Given the description of an element on the screen output the (x, y) to click on. 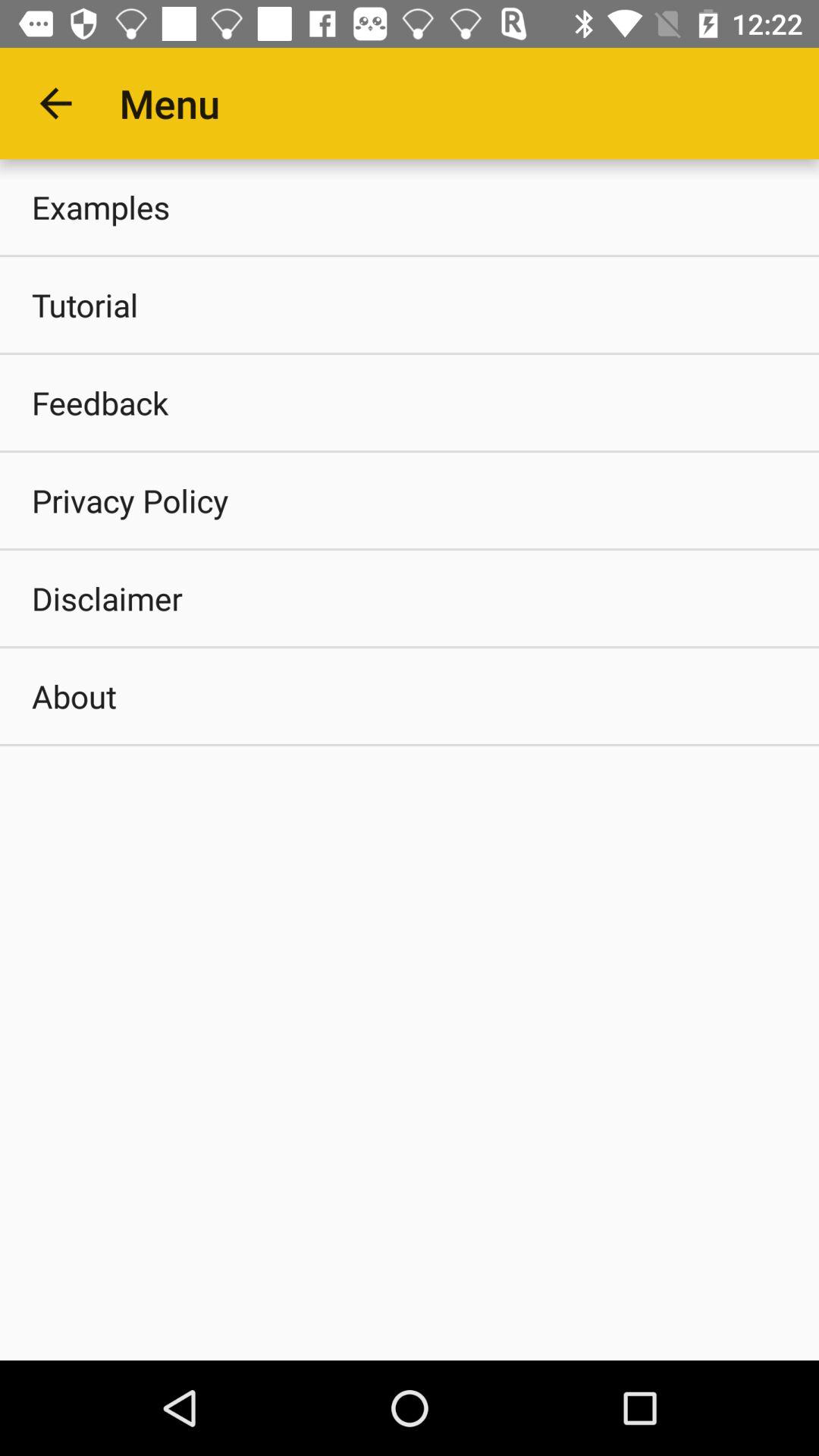
jump until disclaimer item (409, 598)
